Given the description of an element on the screen output the (x, y) to click on. 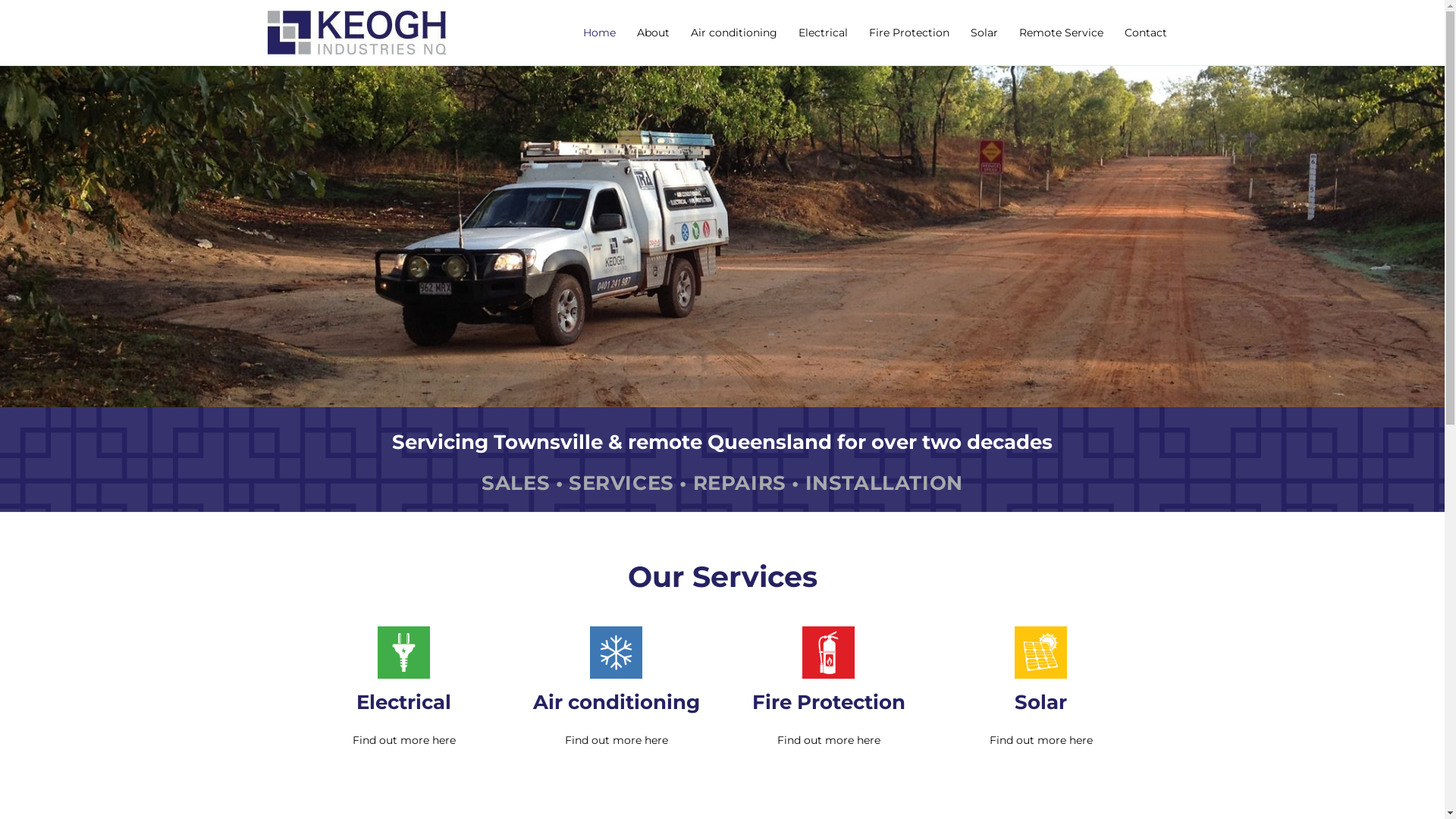
Air conditioning Element type: text (615, 702)
Home Element type: text (598, 32)
Solar Element type: text (984, 32)
Fire Protection Element type: text (909, 32)
Remote Service Element type: text (1060, 32)
Contact Element type: text (1144, 32)
Solar Element type: text (1040, 702)
Electrical Element type: text (403, 702)
Electrical Element type: text (822, 32)
About Element type: text (653, 32)
Fire Protection Element type: text (828, 702)
Air conditioning Element type: text (733, 32)
